Given the description of an element on the screen output the (x, y) to click on. 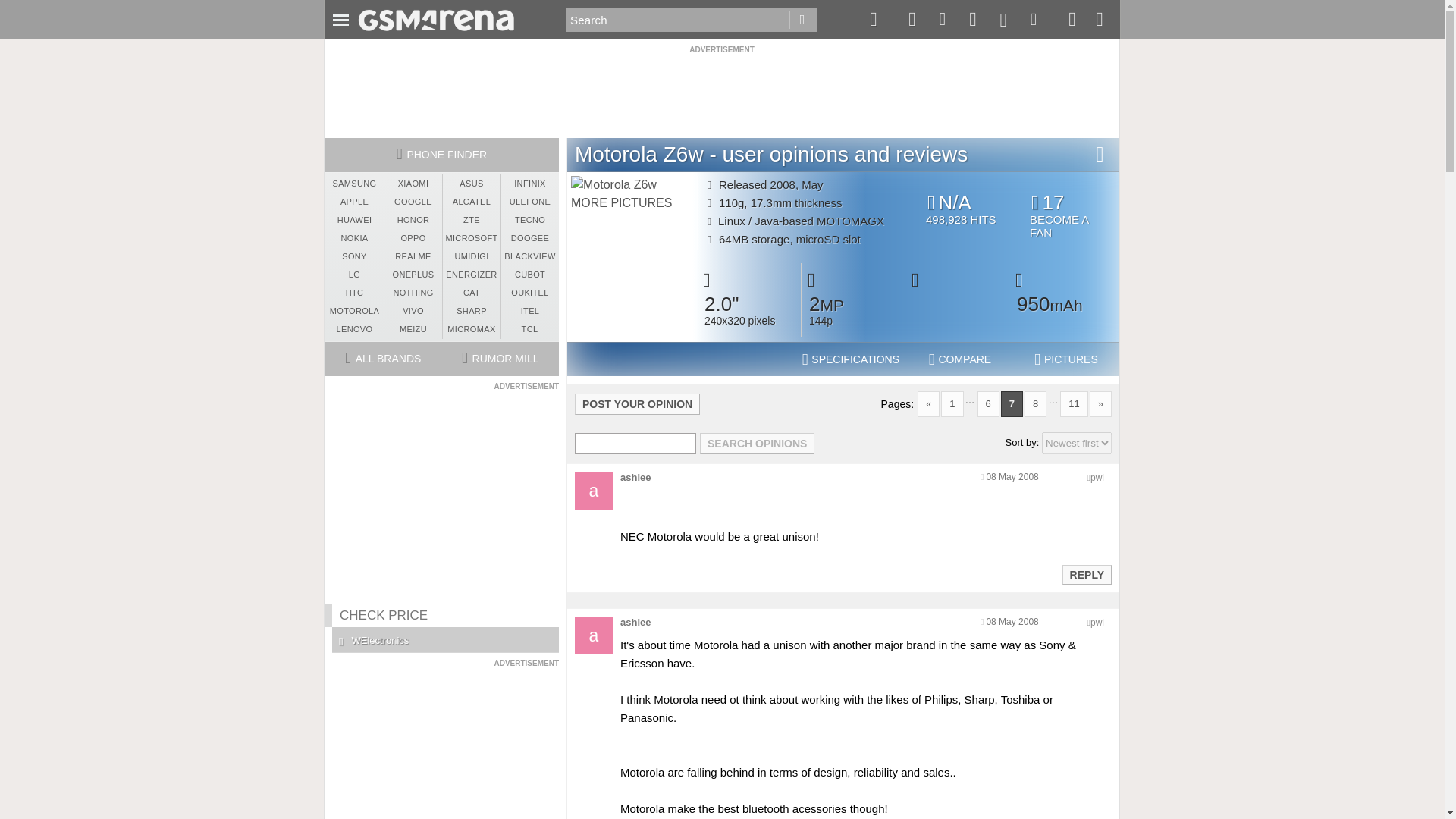
Motorola Z6w phone specifications (850, 359)
COMPARE (960, 359)
Go (802, 19)
Reply to this post (1086, 574)
Encoded anonymized location (1096, 477)
SPECIFICATIONS (850, 359)
PICTURES (1066, 359)
POST YOUR OPINION (637, 403)
Encoded anonymized location (1096, 622)
